Given the description of an element on the screen output the (x, y) to click on. 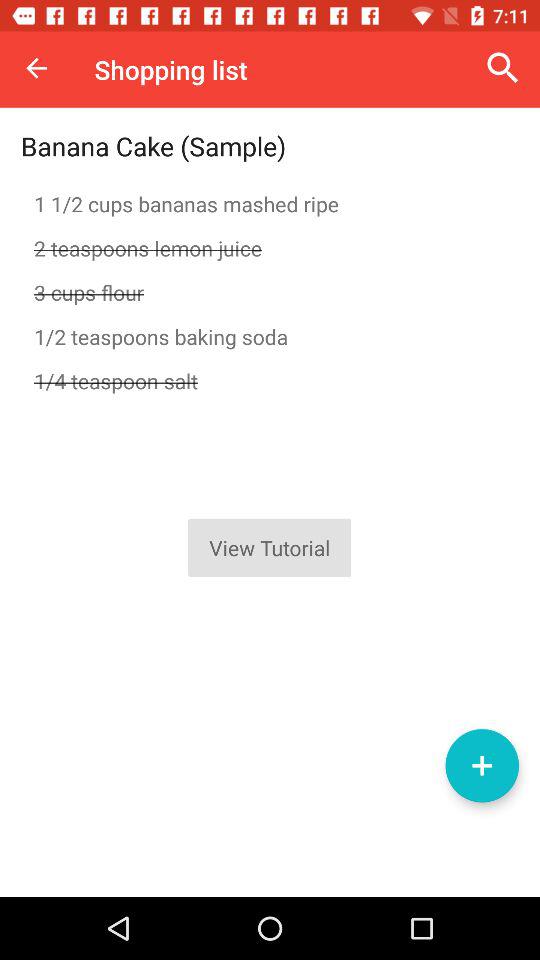
click the item at the bottom right corner (482, 765)
